Given the description of an element on the screen output the (x, y) to click on. 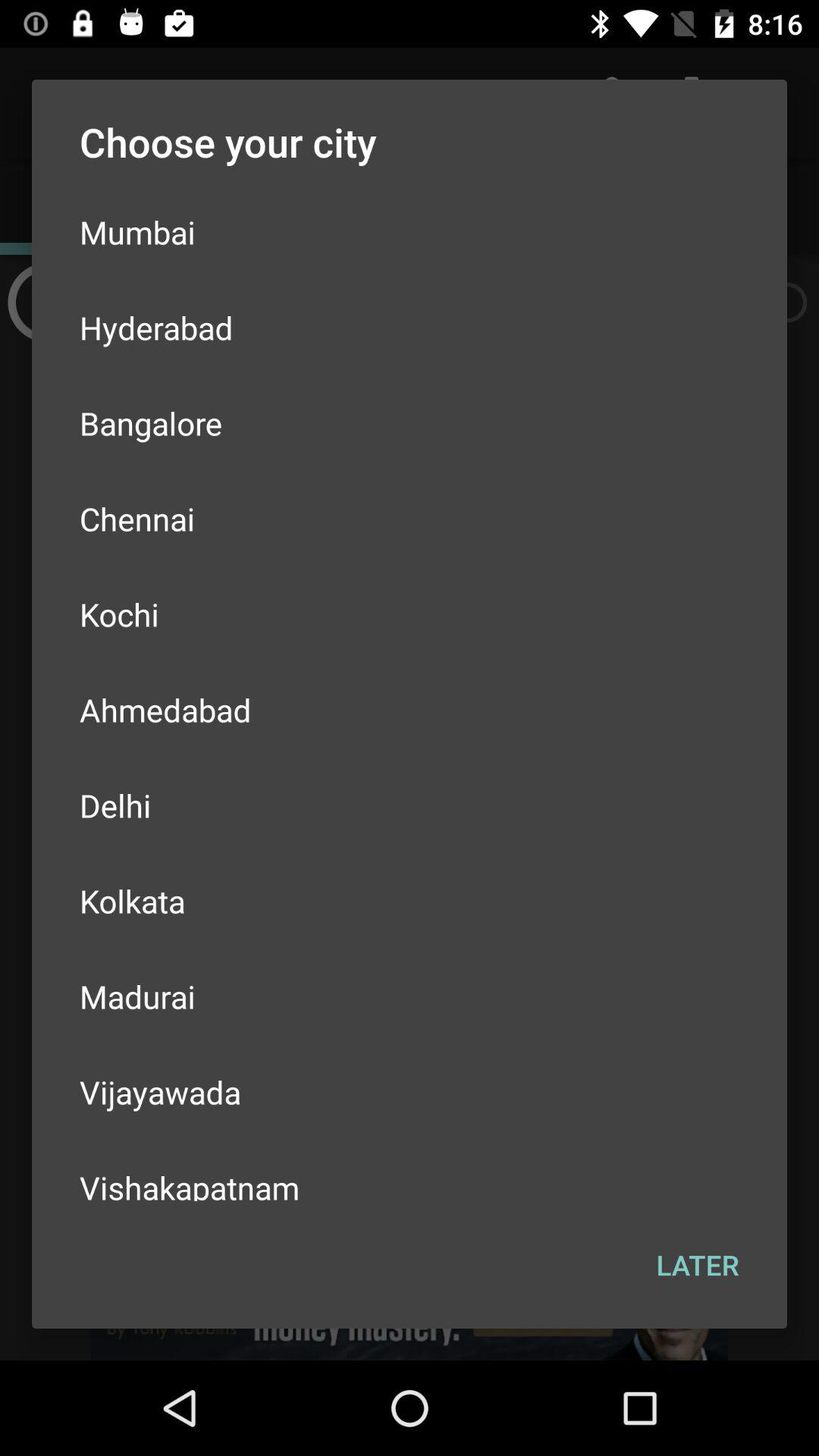
select the mumbai item (409, 231)
